Given the description of an element on the screen output the (x, y) to click on. 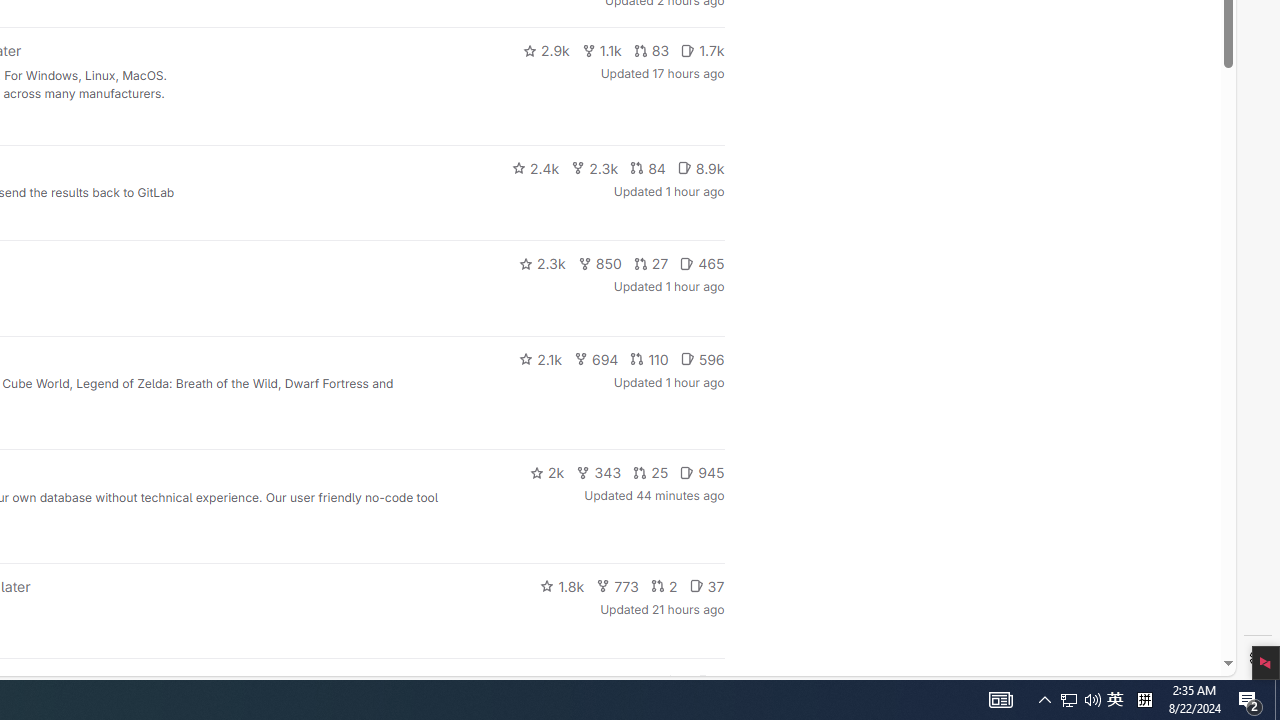
25 (651, 472)
2.4k (535, 167)
2k (546, 472)
84 (647, 167)
2.9k (545, 50)
110 (649, 358)
8.9k (700, 167)
773 (618, 585)
6 (710, 681)
596 (701, 358)
27 (651, 263)
83 (651, 50)
343 (599, 472)
1.1k (601, 50)
